Given the description of an element on the screen output the (x, y) to click on. 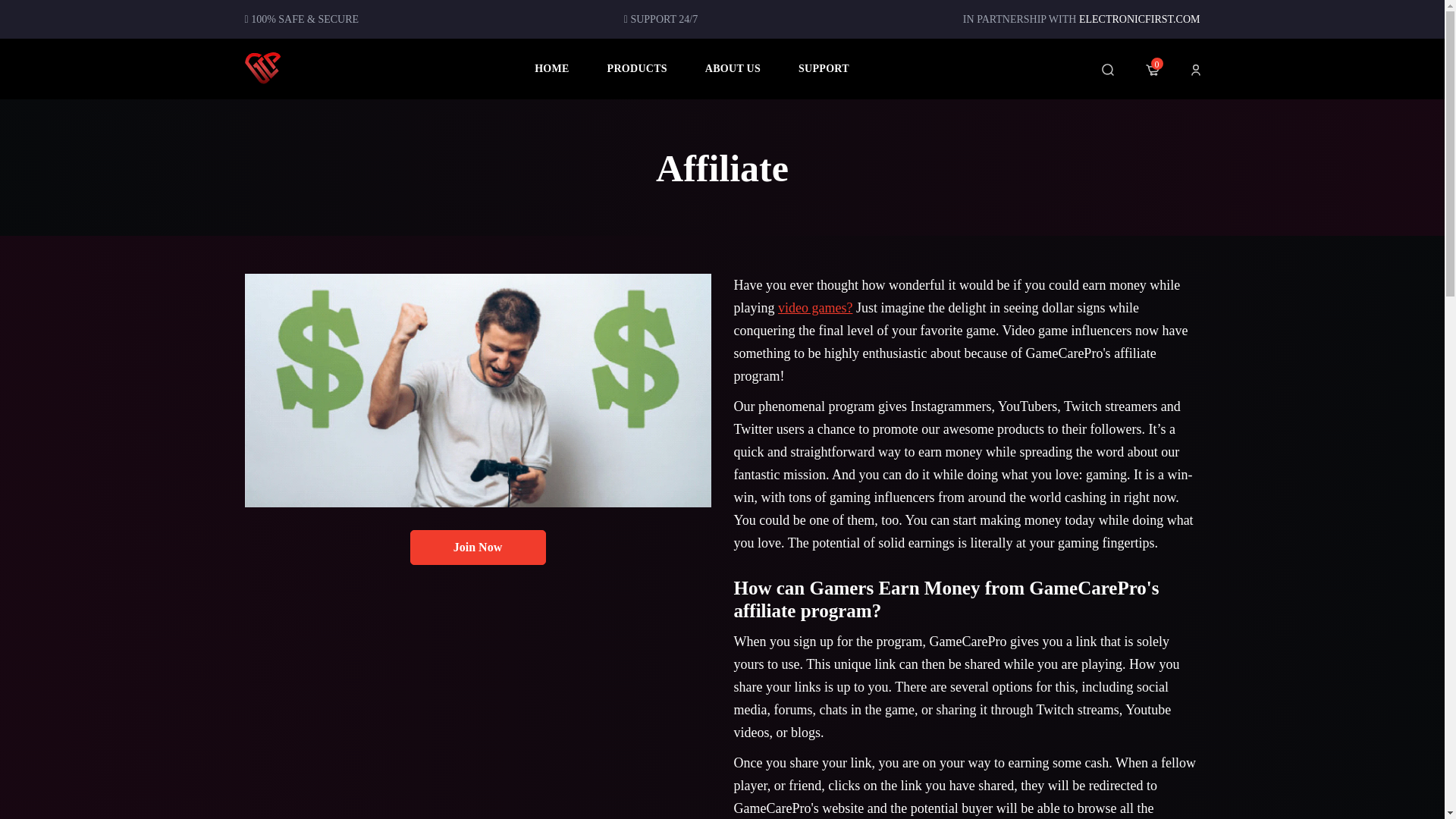
IN PARTNERSHIP WITH ELECTRONICFIRST.COM (1080, 19)
ABOUT US (732, 68)
0 (1151, 68)
video games? (814, 307)
Join Now (476, 546)
PRODUCTS (636, 68)
